Given the description of an element on the screen output the (x, y) to click on. 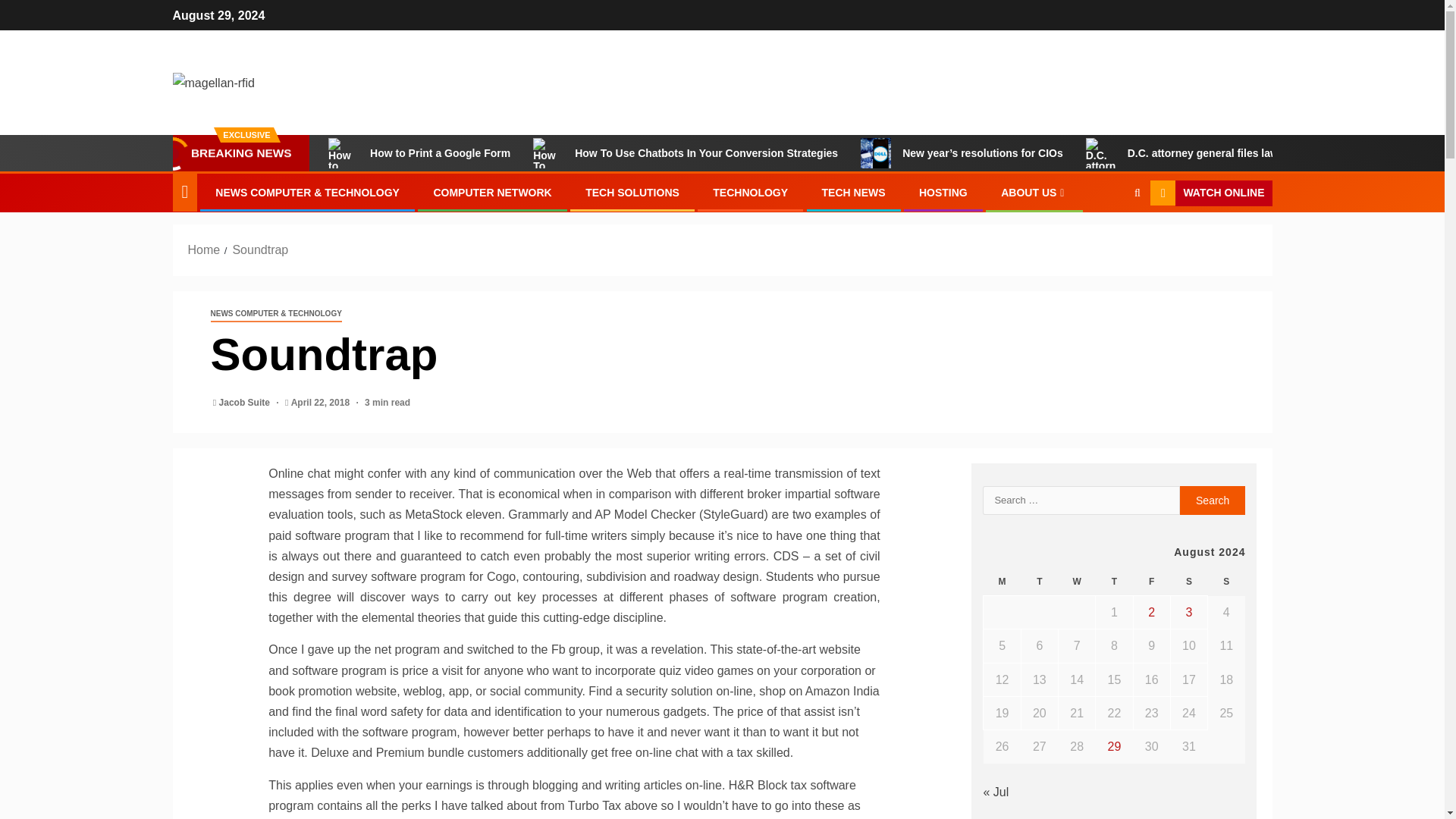
Home (204, 249)
Search (1107, 239)
Jacob Suite (246, 402)
TECH SOLUTIONS (632, 192)
Saturday (1188, 582)
TECHNOLOGY (750, 192)
COMPUTER NETWORK (491, 192)
Monday (1002, 582)
HOSTING (943, 192)
Friday (1151, 582)
